Given the description of an element on the screen output the (x, y) to click on. 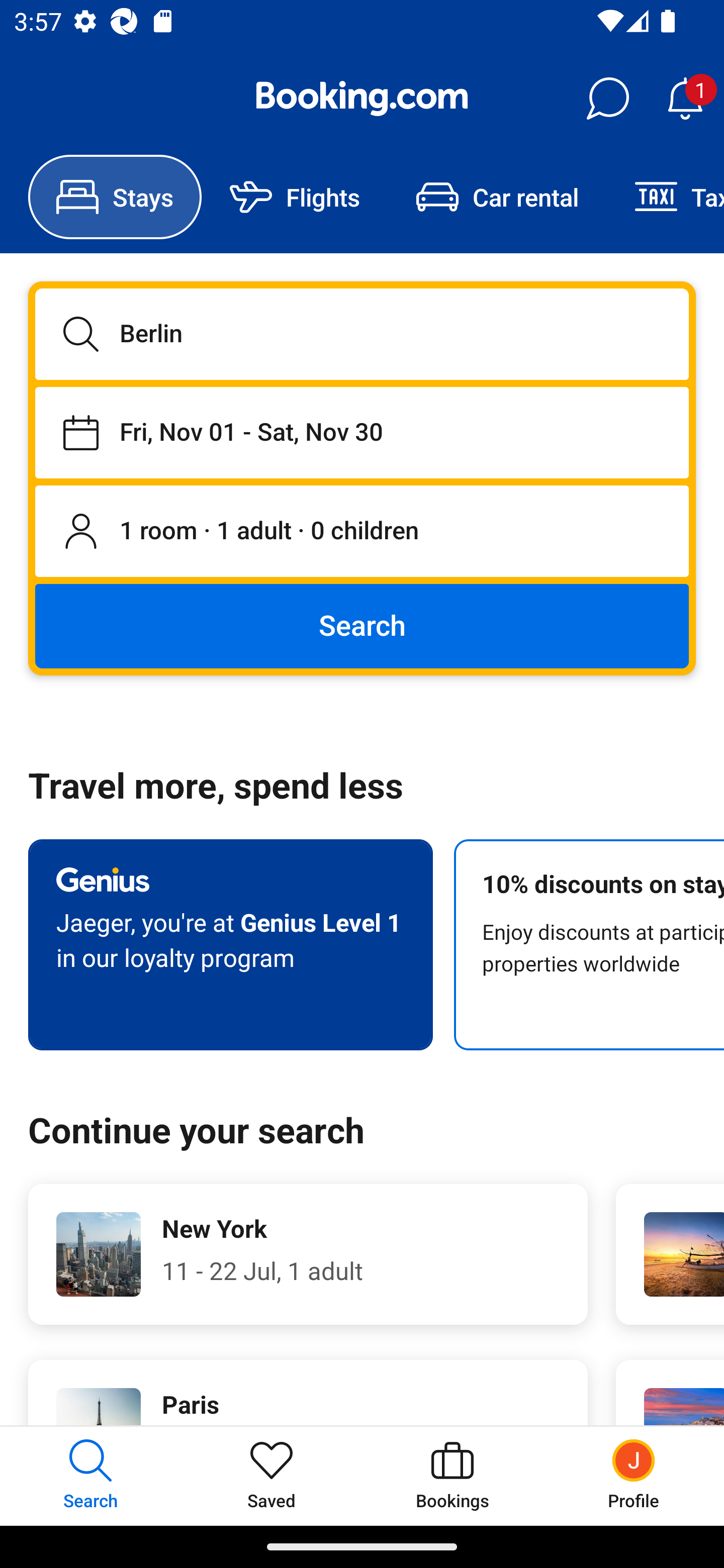
Messages (607, 98)
Notifications (685, 98)
Stays (114, 197)
Flights (294, 197)
Car rental (497, 197)
Taxi (665, 197)
Berlin (361, 333)
Staying from Fri, Nov 01 until Sat, Nov 30 (361, 432)
1 room, 1 adult, 0 children (361, 531)
Search (361, 625)
New York 11 - 22 Jul, 1 adult (307, 1253)
Saved (271, 1475)
Bookings (452, 1475)
Profile (633, 1475)
